Given the description of an element on the screen output the (x, y) to click on. 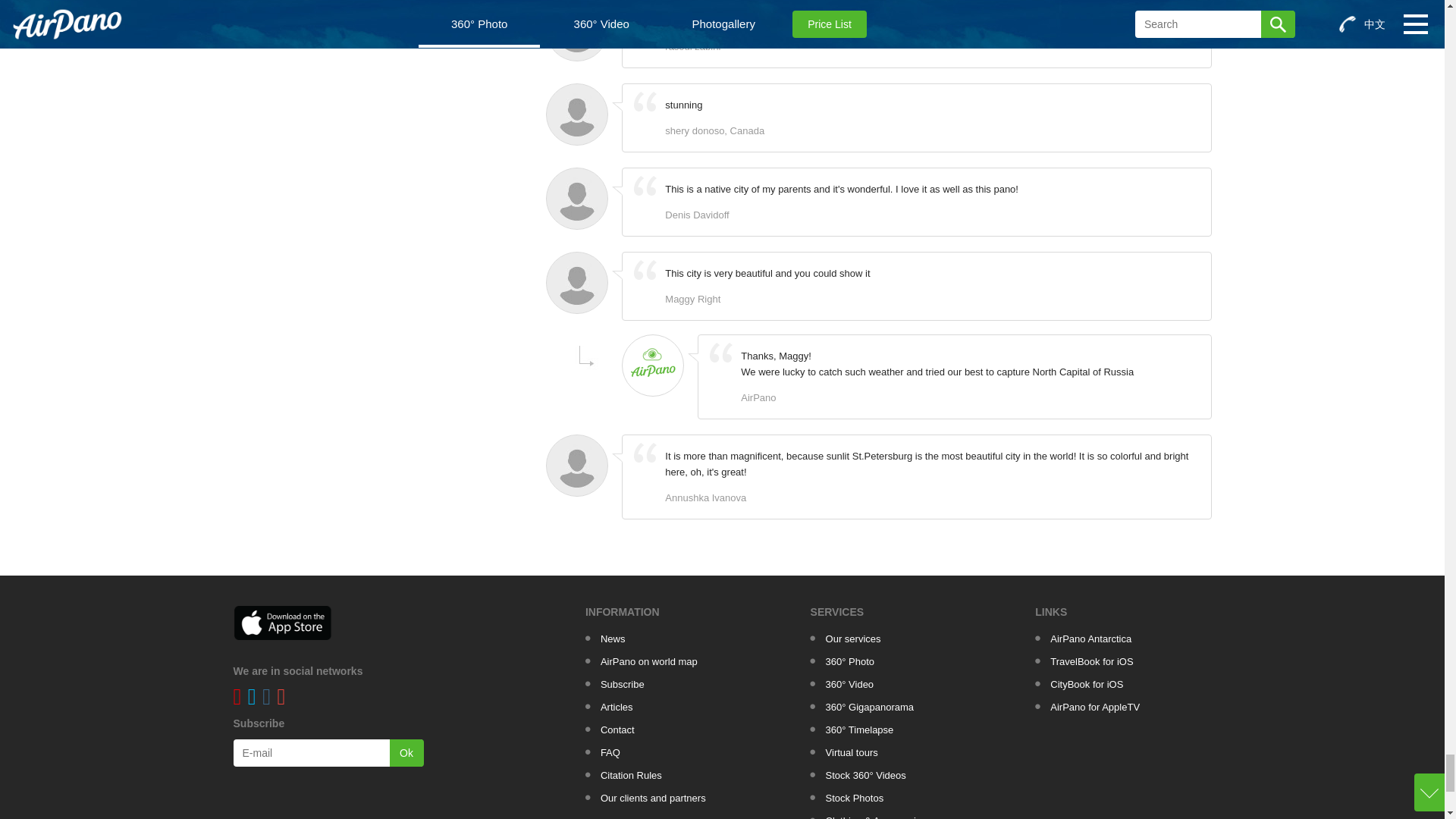
Ok (406, 752)
Ok (406, 752)
